Given the description of an element on the screen output the (x, y) to click on. 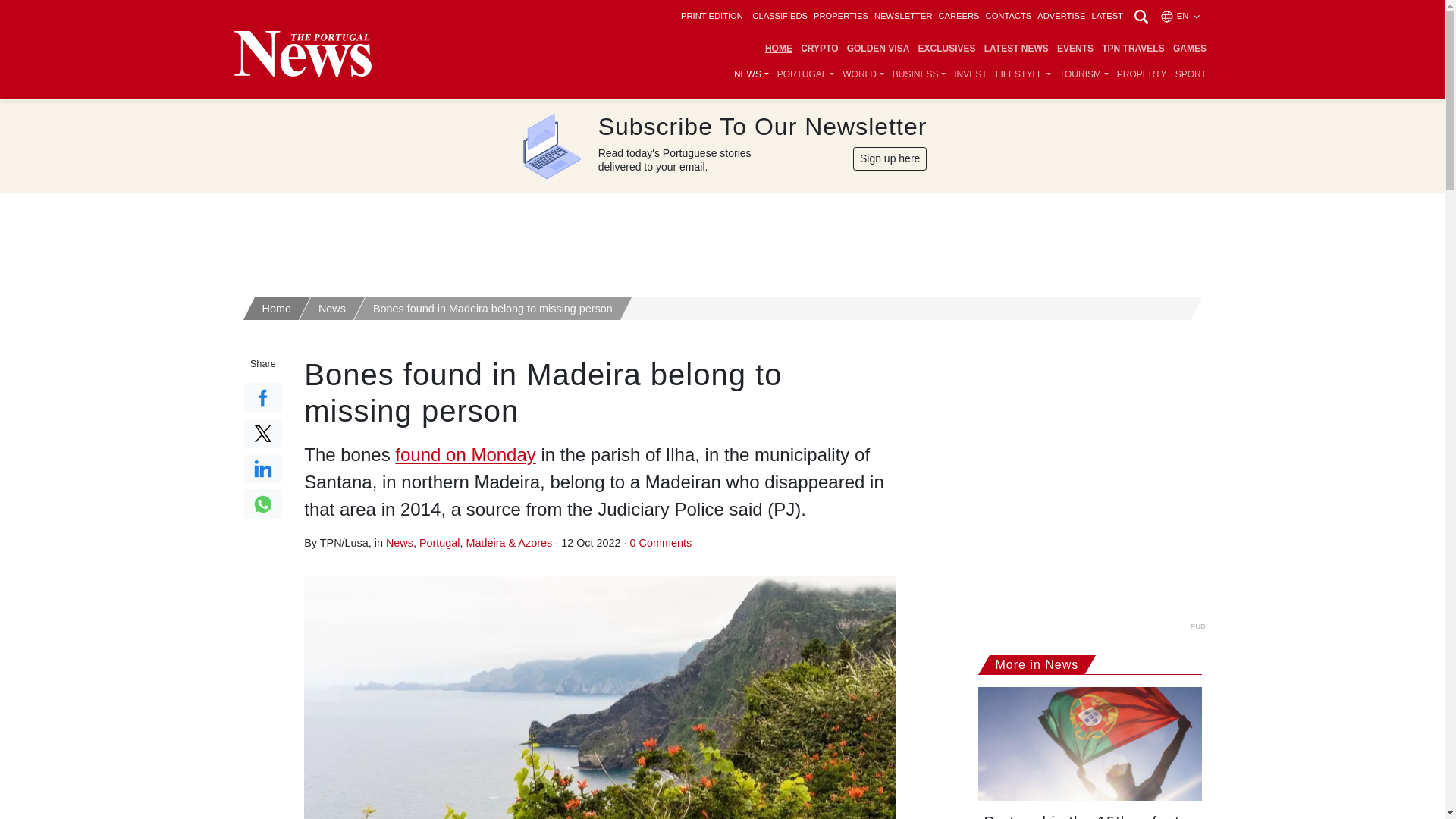
EN (1181, 15)
TPN TRAVELS (1133, 48)
ADVERTISE (1060, 15)
PROPERTIES (840, 15)
CLASSIFIEDS (780, 15)
HOME (778, 48)
NEWSLETTER (903, 15)
GAMES (1189, 48)
PRINT EDITION (711, 15)
3rd party ad content (722, 238)
